Given the description of an element on the screen output the (x, y) to click on. 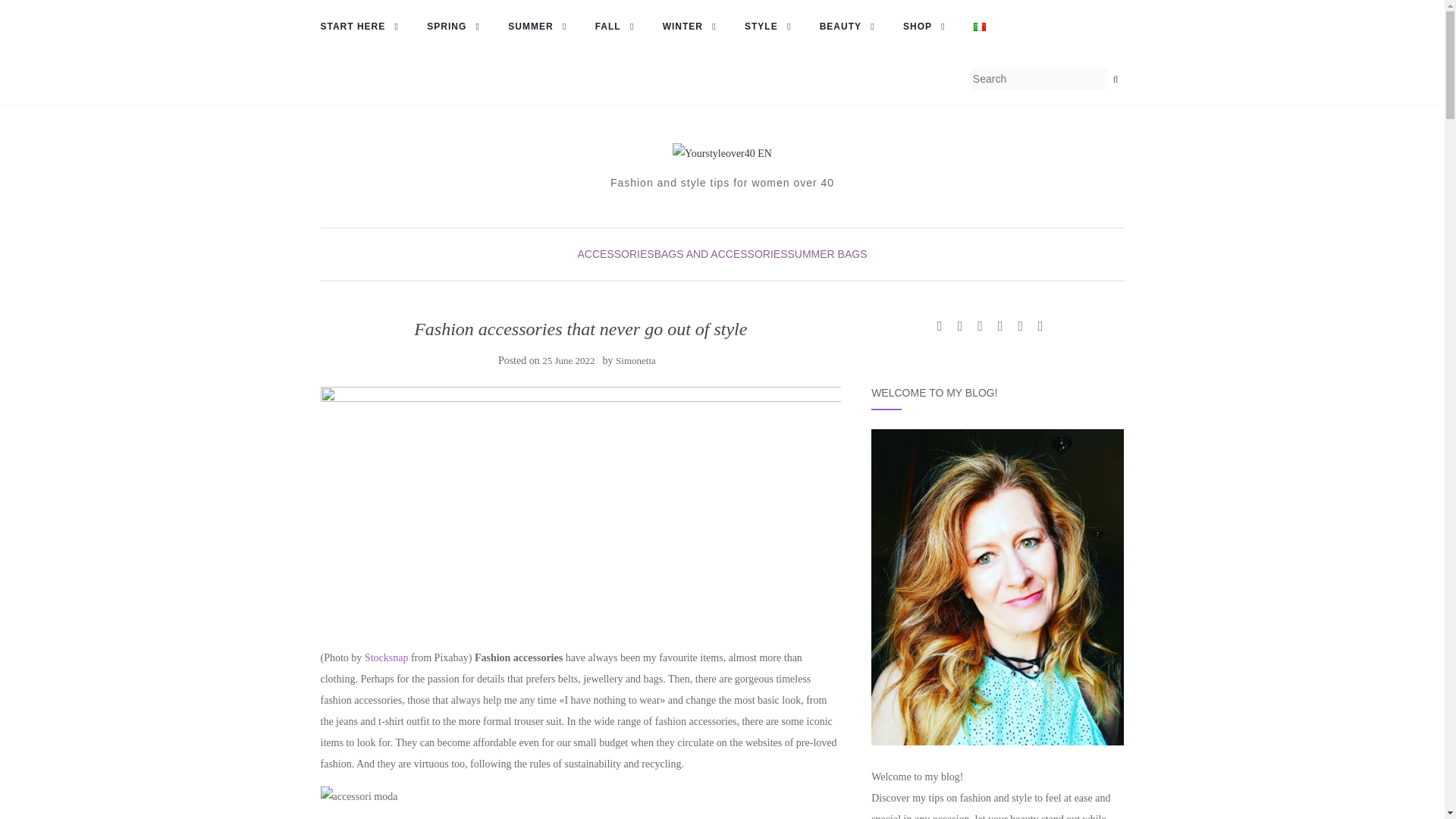
STYLE (772, 27)
Start here (363, 27)
BEAUTY (851, 27)
SPRING (457, 27)
Spring (457, 27)
FALL (619, 27)
WINTER (693, 27)
SUMMER (541, 27)
START HERE (363, 27)
